Given the description of an element on the screen output the (x, y) to click on. 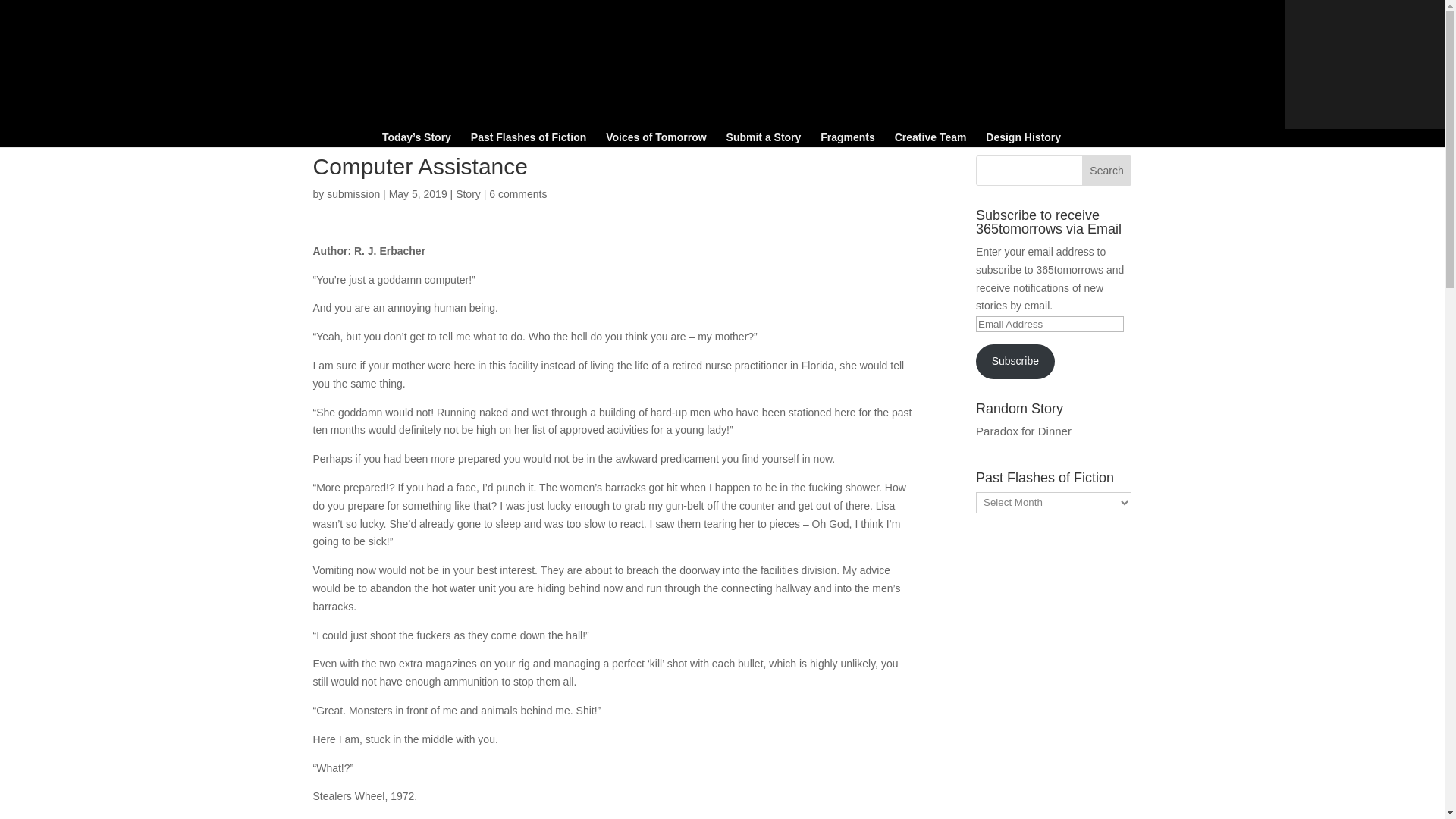
Creative Team (930, 139)
Subscribe (1014, 361)
Voices of Tomorrow (655, 139)
Fragments (848, 139)
Search (1106, 170)
Posts by submission (353, 193)
Past Flashes of Fiction (528, 139)
Design History (1023, 139)
submission (353, 193)
Submit a Story (764, 139)
6 comments (518, 193)
Search (1106, 170)
Story (467, 193)
